Given the description of an element on the screen output the (x, y) to click on. 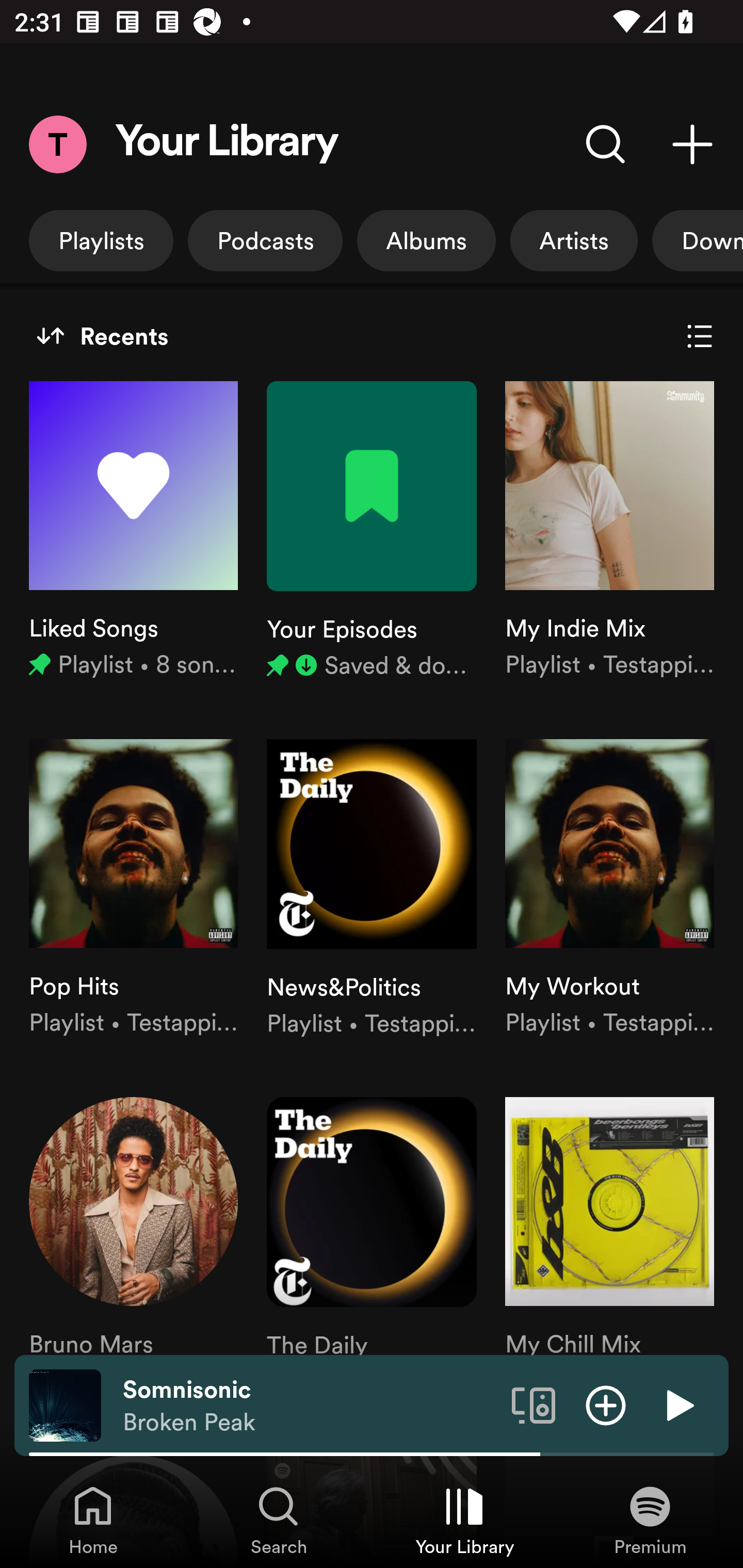
Menu (57, 144)
Search Your Library (605, 144)
Create playlist (692, 144)
Your Library Your Library Heading (226, 144)
Playlists, show only playlists. (100, 240)
Podcasts, show only podcasts. (264, 240)
Albums, show only albums. (426, 240)
Artists, show only artists. (573, 240)
Downloaded, show only downloaded. (697, 240)
Recents (101, 336)
Show List view (699, 336)
Bruno Mars, Artist,  Bruno Mars Artist (132, 1247)
Somnisonic Broken Peak (309, 1405)
The cover art of the currently playing track (64, 1404)
Connect to a device. Opens the devices menu (533, 1404)
Add item (605, 1404)
Play (677, 1404)
Home, Tab 1 of 4 Home Home (92, 1519)
Search, Tab 2 of 4 Search Search (278, 1519)
Your Library, Tab 3 of 4 Your Library Your Library (464, 1519)
Premium, Tab 4 of 4 Premium Premium (650, 1519)
